Given the description of an element on the screen output the (x, y) to click on. 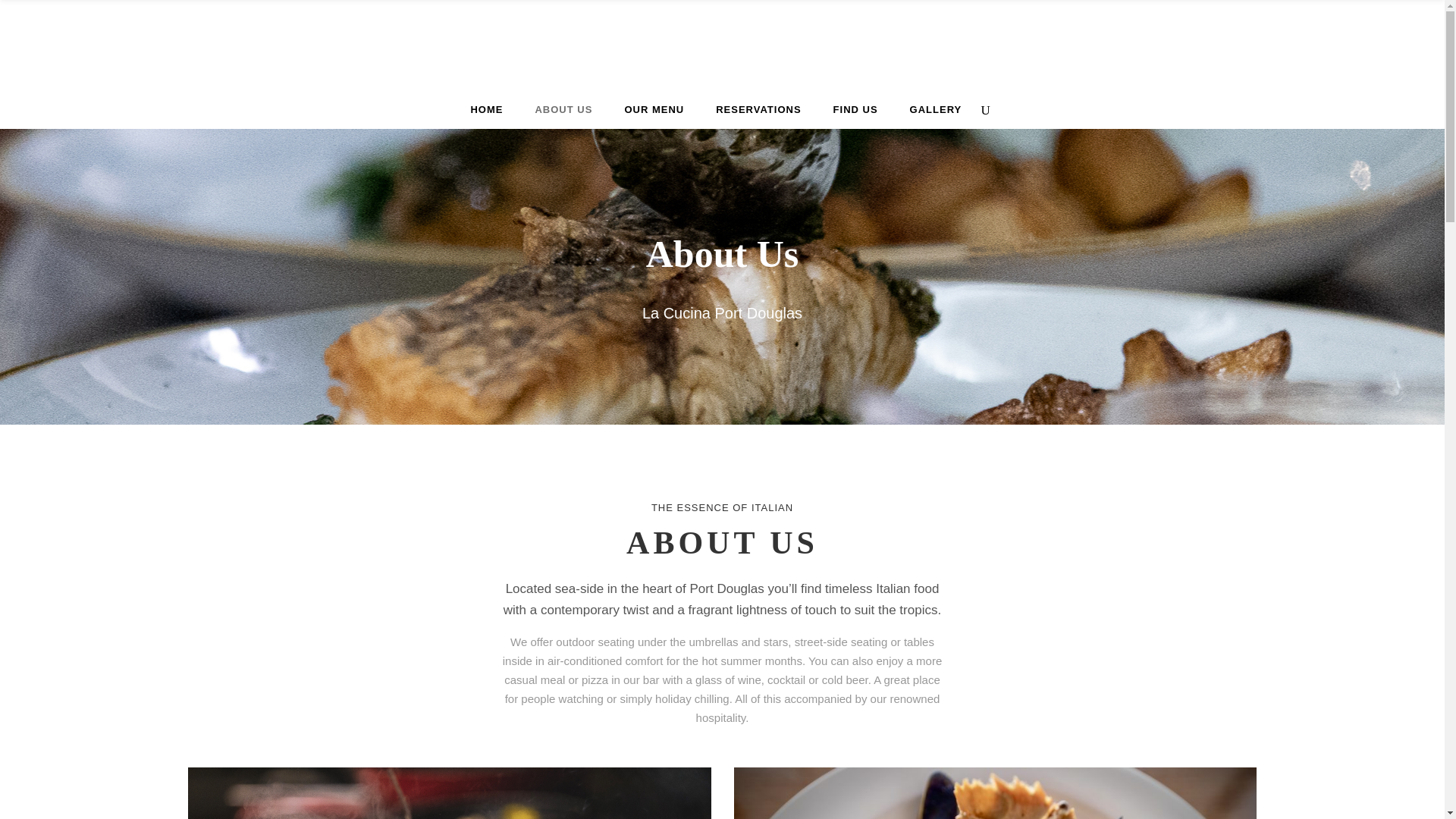
OUR MENU (654, 109)
HOME (486, 109)
U (983, 413)
ABOUT US (563, 109)
GALLERY (935, 109)
RESERVATIONS (758, 109)
FIND US (854, 109)
